Given the description of an element on the screen output the (x, y) to click on. 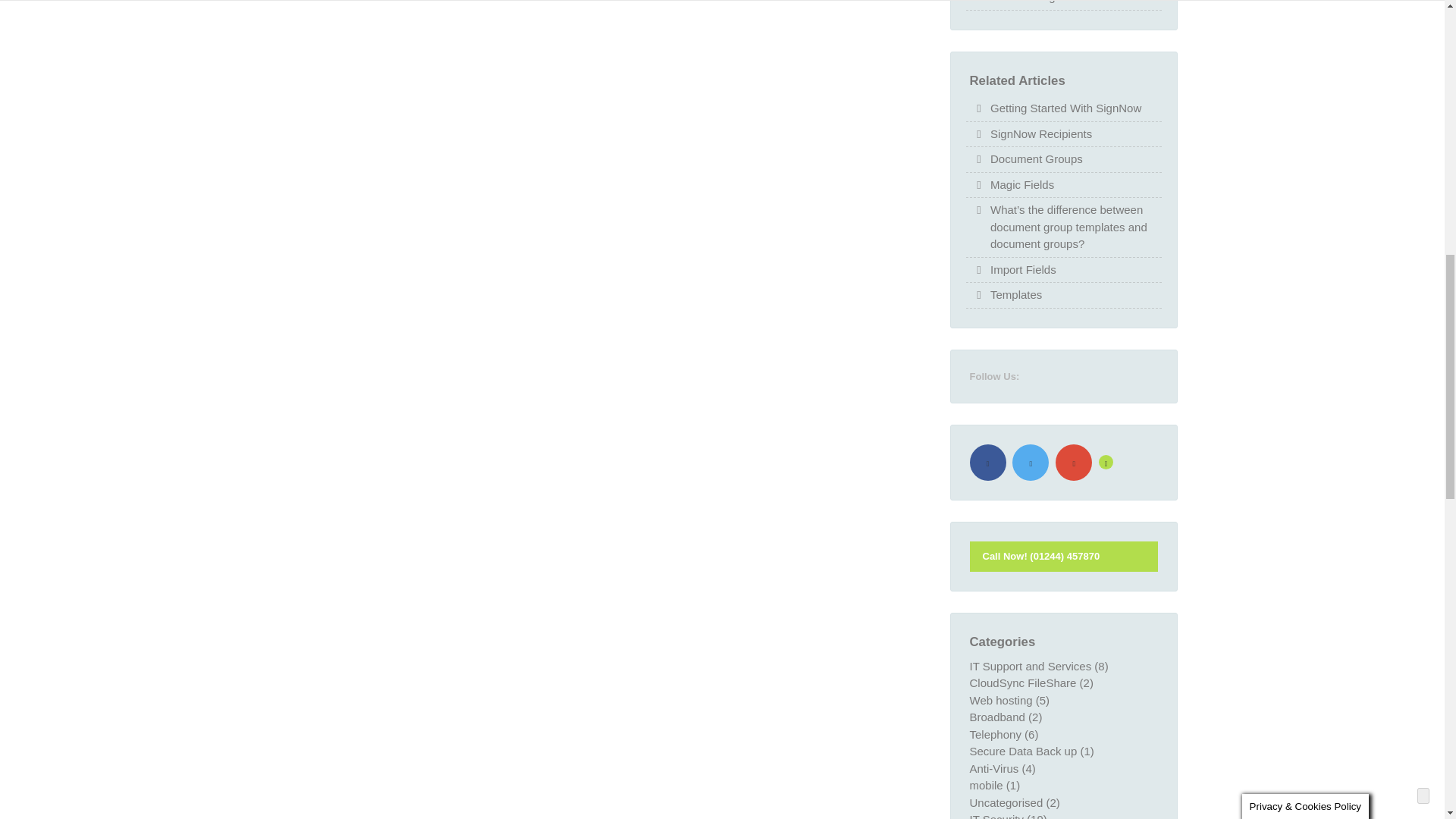
SignNow Recipients (1041, 134)
Import Fields (1023, 270)
Templates (1016, 294)
Getting Started With SignNow (1065, 108)
Document Groups (1036, 159)
Magic Fields (1022, 185)
